Given the description of an element on the screen output the (x, y) to click on. 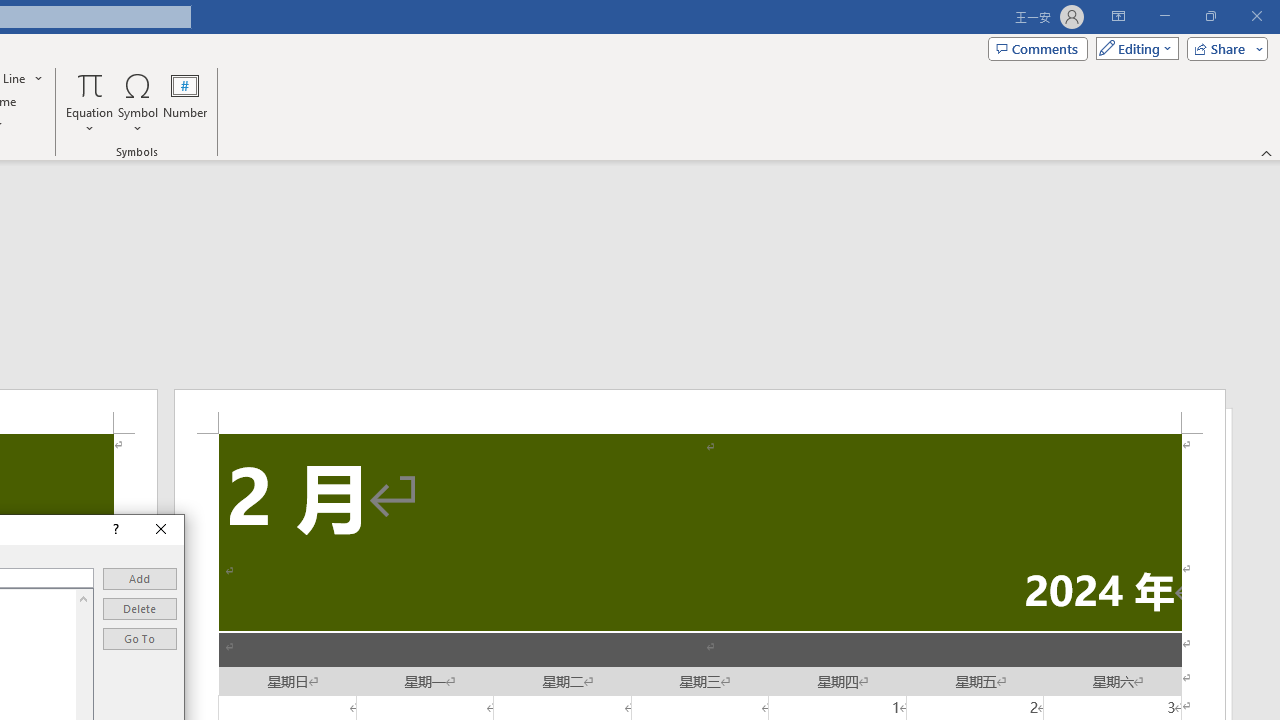
Add (139, 579)
Ribbon Display Options (1118, 16)
Context help (114, 529)
